Given the description of an element on the screen output the (x, y) to click on. 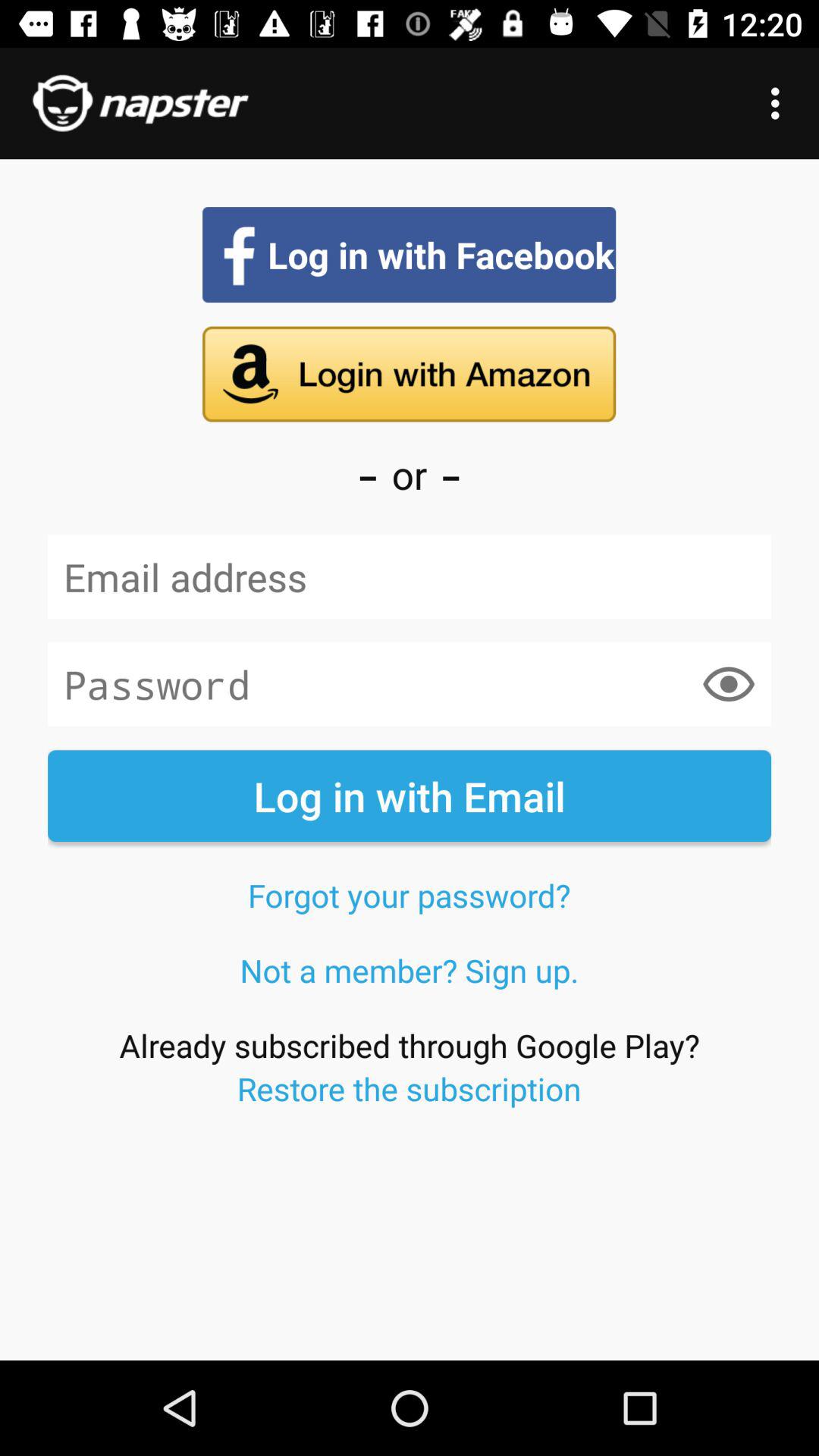
flip until the forgot your password? item (408, 894)
